Given the description of an element on the screen output the (x, y) to click on. 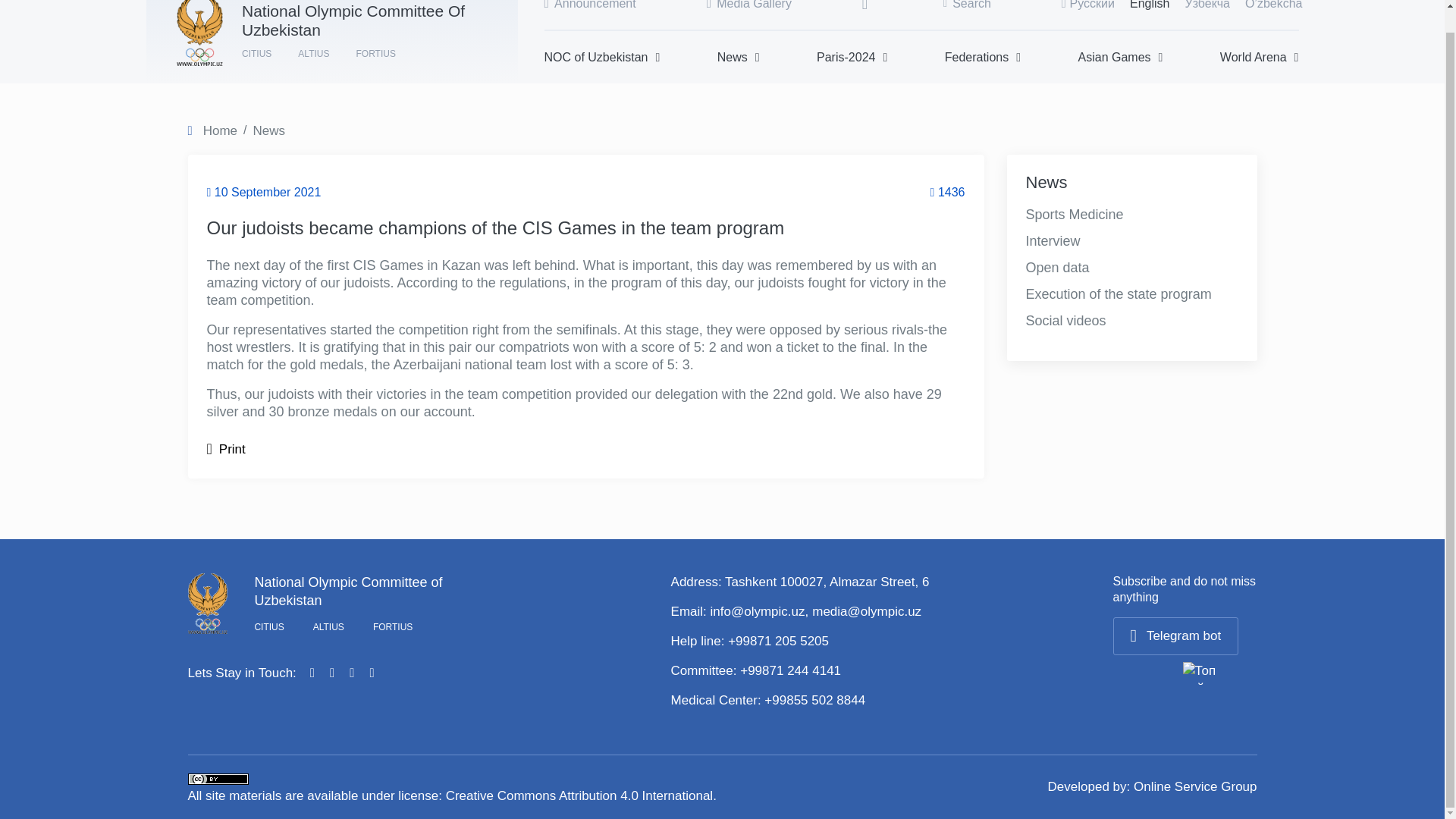
Announcement (590, 5)
Paris-2024 (851, 57)
Search (967, 5)
NOC of Uzbekistan (602, 57)
Media Gallery (749, 5)
English (1149, 5)
News (738, 57)
Federations (982, 57)
Asian Games (1120, 57)
